Given the description of an element on the screen output the (x, y) to click on. 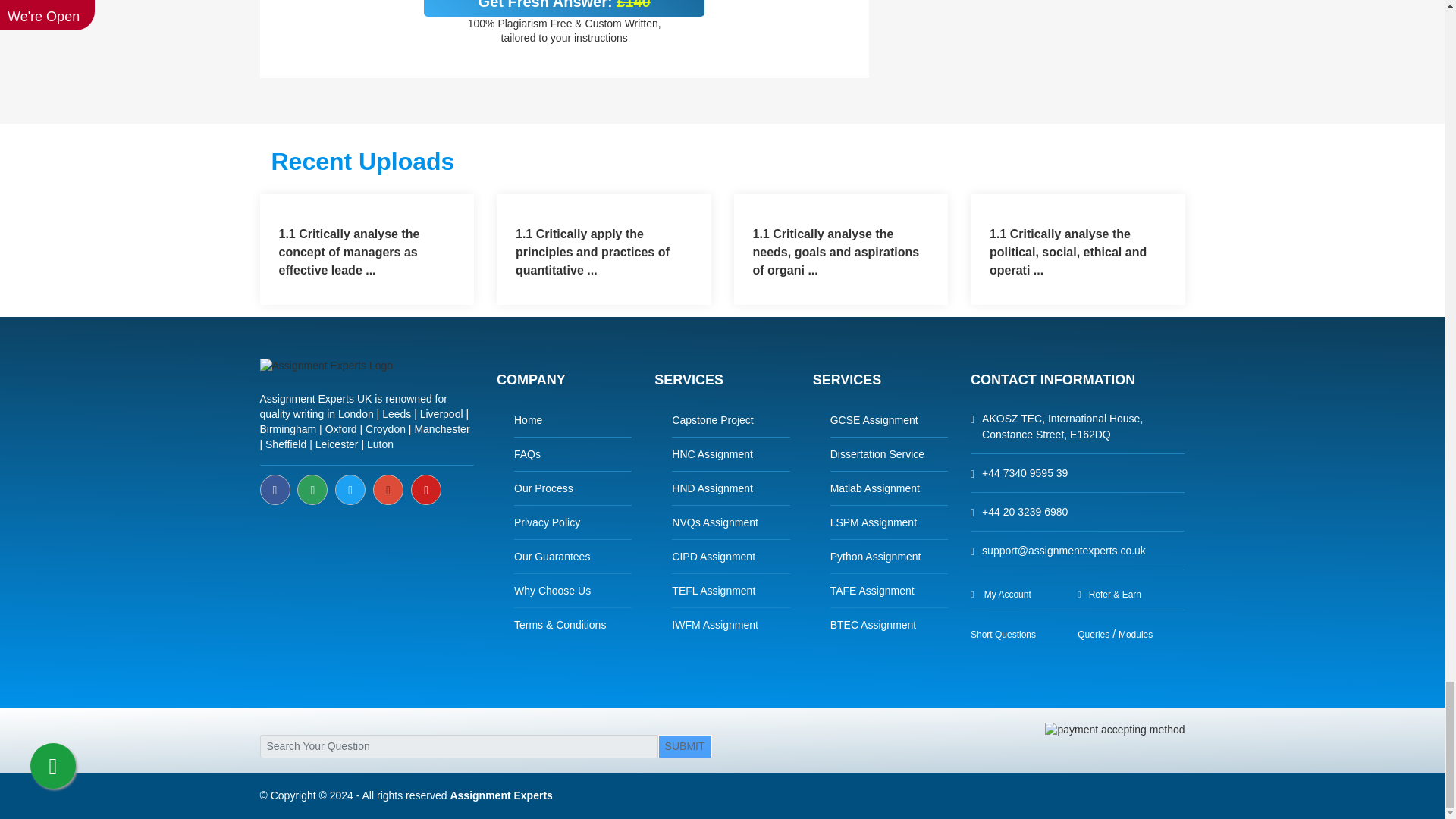
Liverpool (441, 413)
Oxford (340, 428)
Manchester (440, 428)
Birmingham (287, 428)
Croydon (385, 428)
London (355, 413)
Sheffield (284, 444)
Leeds (395, 413)
